Given the description of an element on the screen output the (x, y) to click on. 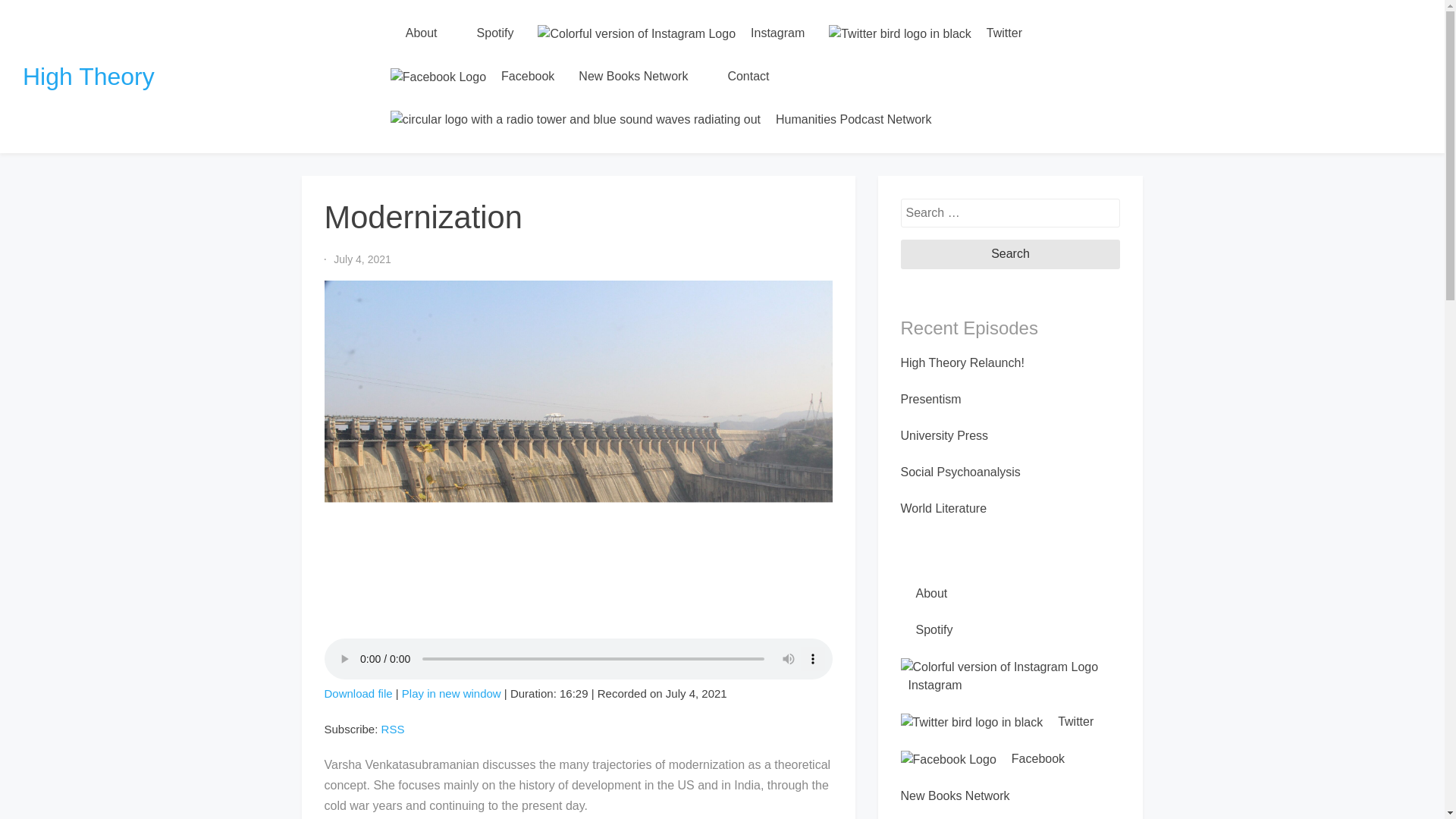
Facebook (472, 76)
Instagram (670, 33)
Search (1011, 253)
RSS (392, 728)
Presentism (930, 399)
Spotify (927, 629)
High Theory Relaunch! (963, 362)
About (924, 593)
Twitter (924, 33)
New Books Network (633, 76)
RSS (392, 728)
Modernization  (450, 693)
Search (1011, 253)
Play in new window (450, 693)
Contact (740, 76)
